Given the description of an element on the screen output the (x, y) to click on. 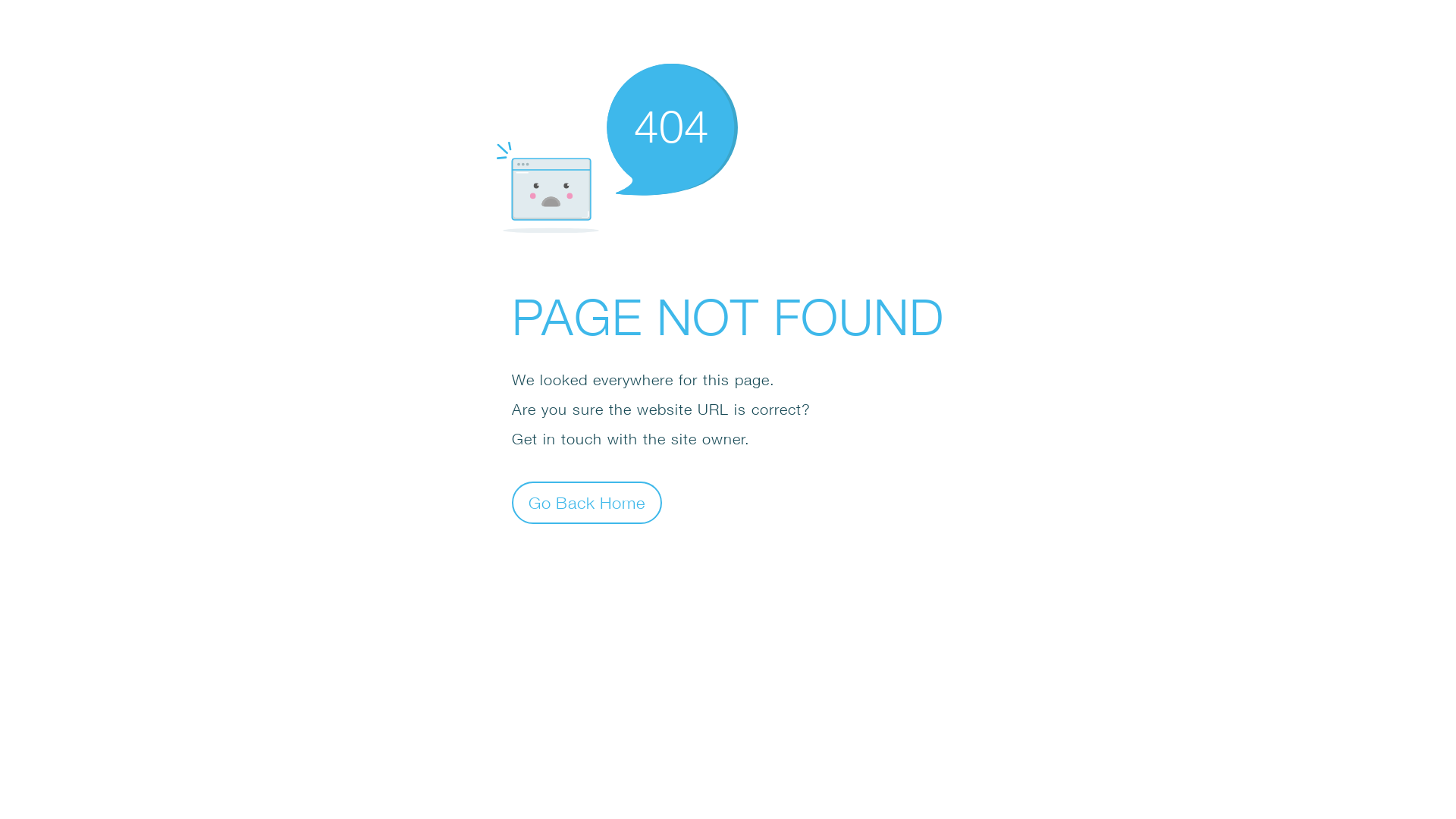
Go Back Home Element type: text (586, 502)
